Given the description of an element on the screen output the (x, y) to click on. 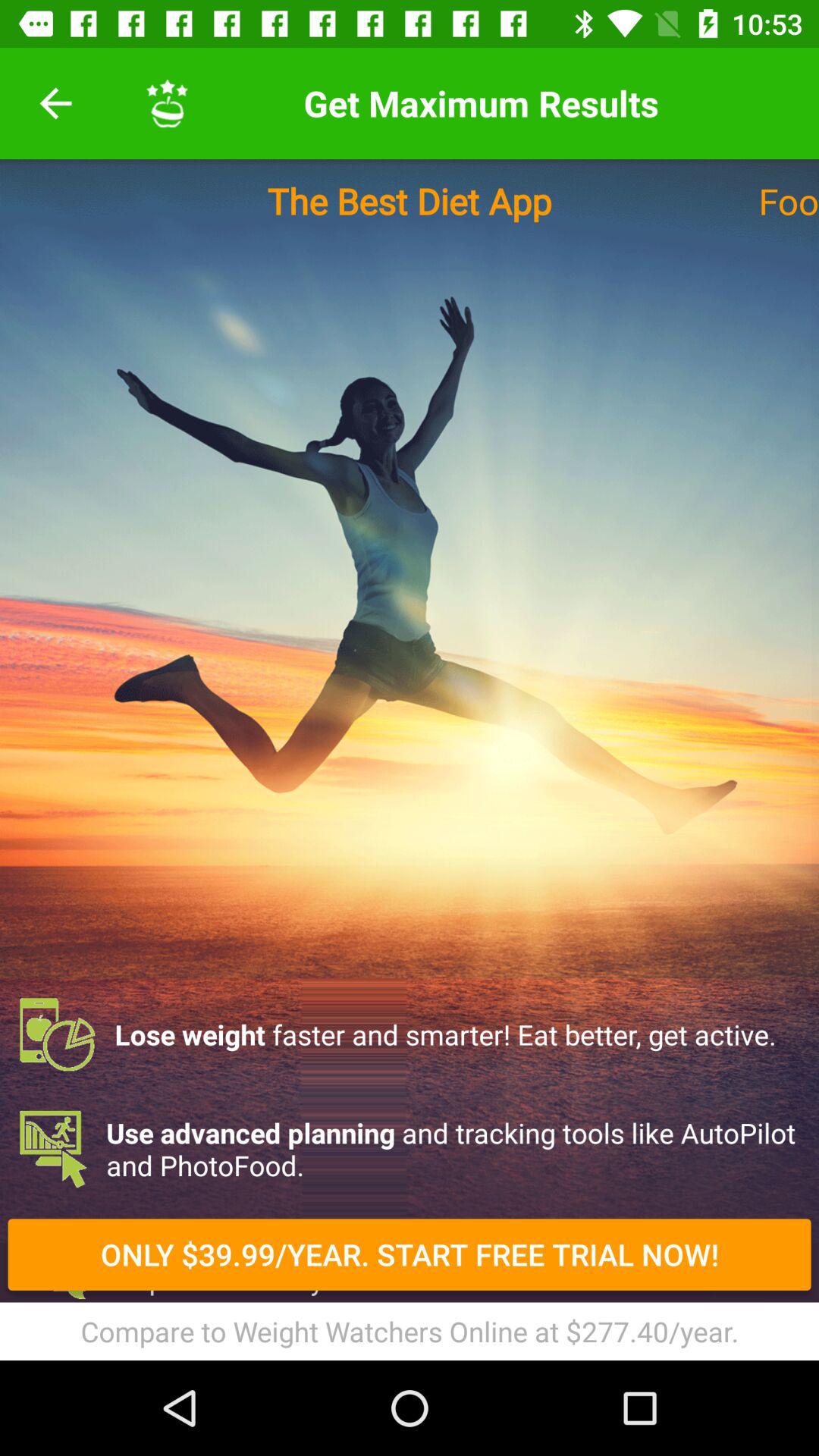
turn off the lose weight faster item (409, 1034)
